Given the description of an element on the screen output the (x, y) to click on. 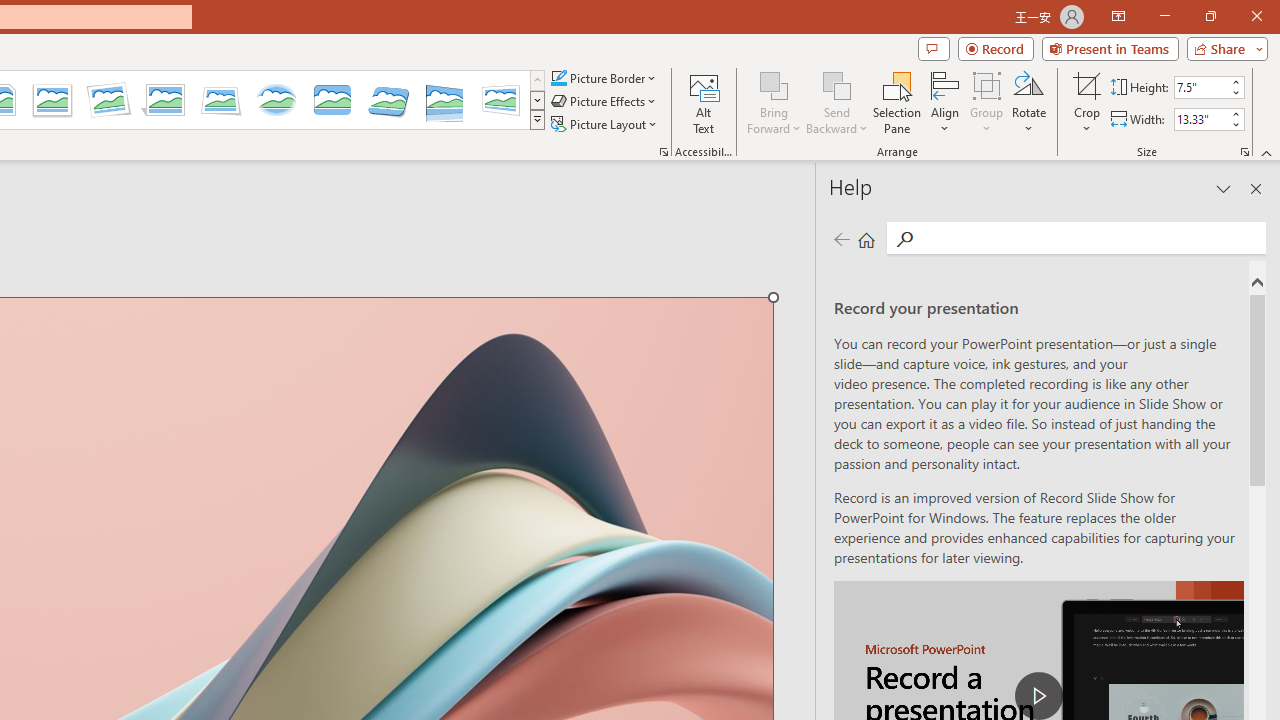
Align (945, 102)
Crop (1087, 84)
Bevel Perspective (388, 100)
Minimize (1164, 16)
Picture Border Blue, Accent 1 (558, 78)
Quick Styles (537, 120)
Moderate Frame, White (52, 100)
Search (1089, 237)
Present in Teams (1109, 48)
Alt Text (703, 102)
More (1235, 113)
Bring Forward (773, 84)
Shape Width (1201, 119)
Rotated, White (108, 100)
Close pane (1256, 188)
